Given the description of an element on the screen output the (x, y) to click on. 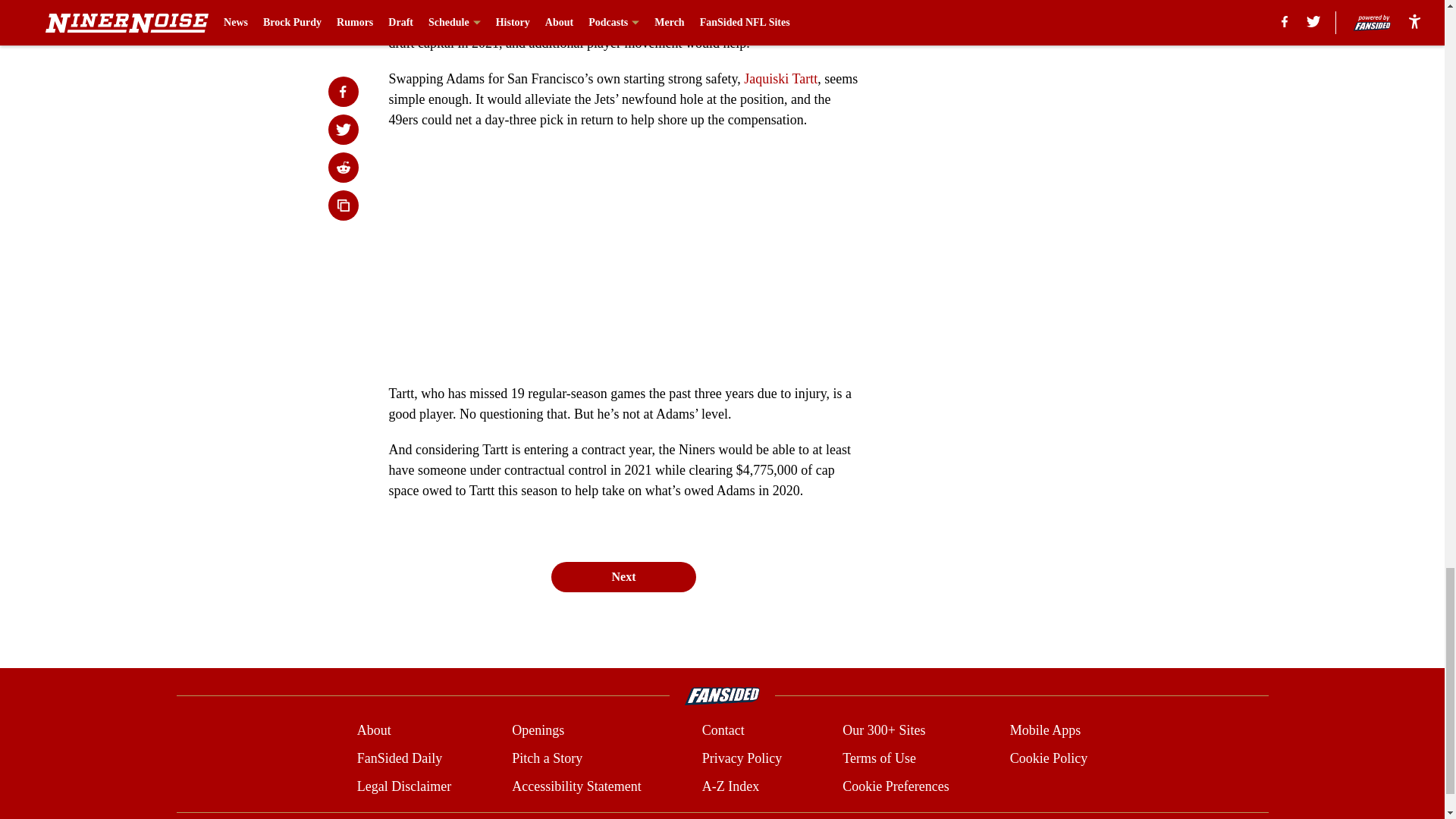
Privacy Policy (742, 758)
Next (622, 576)
Cookie Policy (1048, 758)
About (373, 730)
Jaquiski Tartt (780, 78)
Terms of Use (879, 758)
Openings (538, 730)
Pitch a Story (547, 758)
Mobile Apps (1045, 730)
FanSided Daily (399, 758)
